Given the description of an element on the screen output the (x, y) to click on. 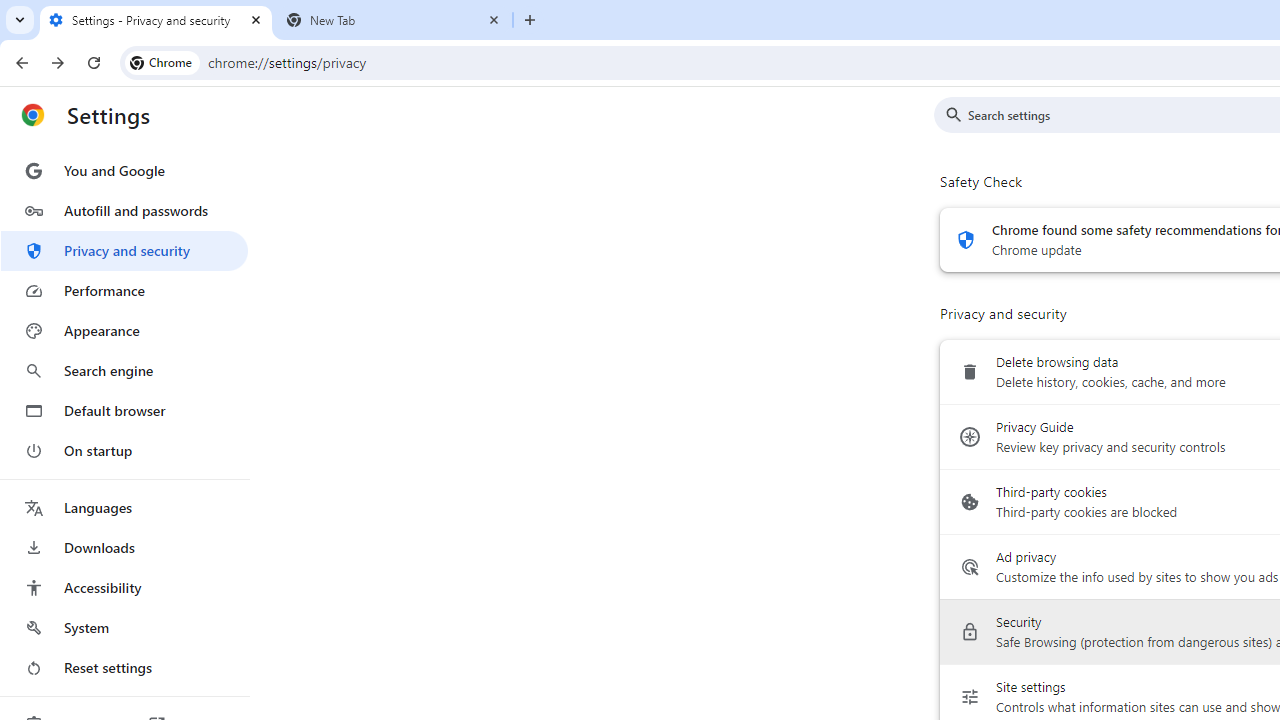
Search engine (124, 370)
Languages (124, 507)
Accessibility (124, 587)
Settings - Privacy and security (156, 20)
Performance (124, 290)
